Given the description of an element on the screen output the (x, y) to click on. 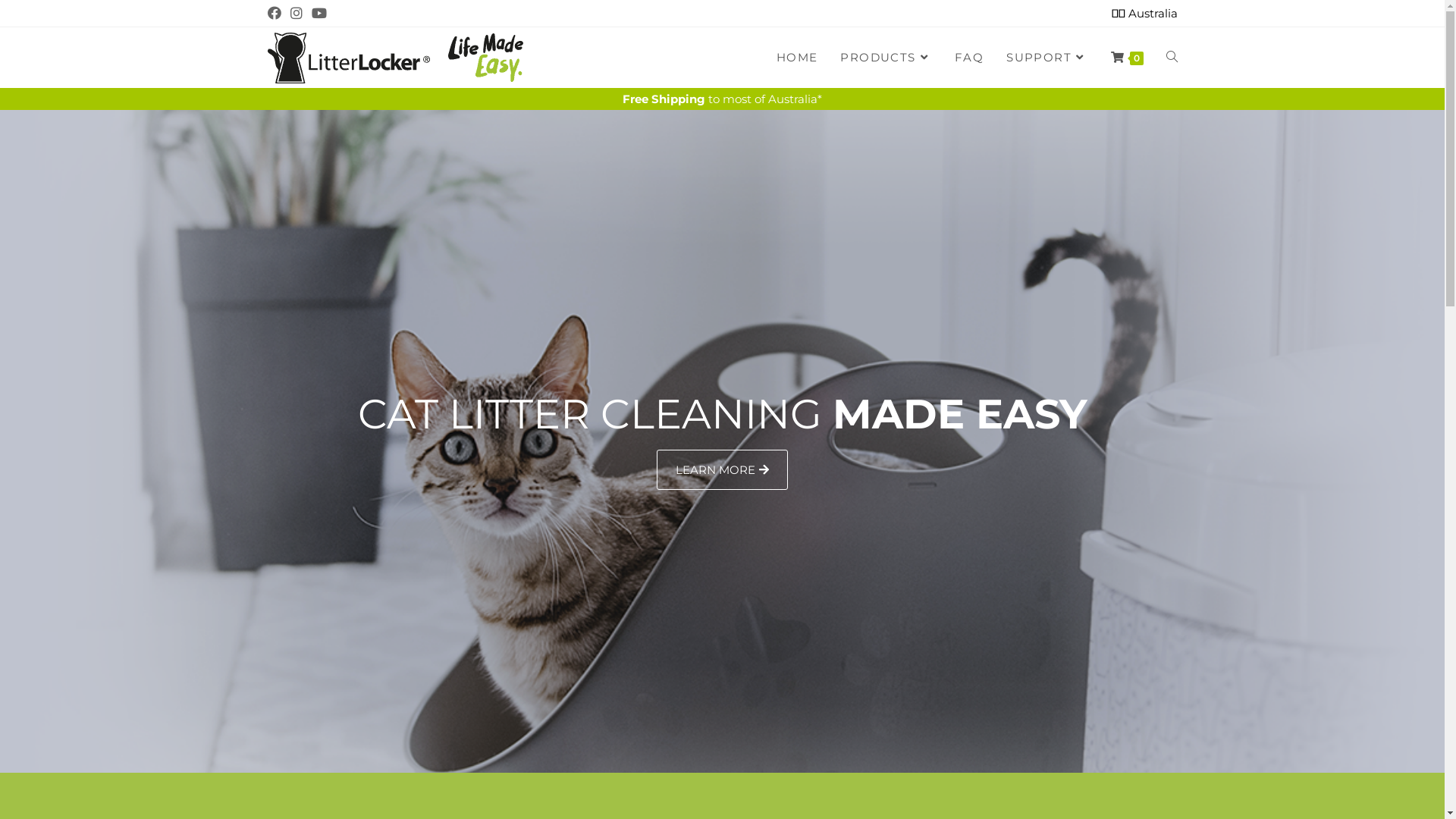
LEARN MORE Element type: text (721, 468)
0 Element type: text (1126, 57)
PRODUCTS Element type: text (885, 57)
HOME Element type: text (797, 57)
FAQ Element type: text (968, 57)
SUPPORT Element type: text (1046, 57)
Free Shipping to most of Australia* Element type: text (722, 98)
